Given the description of an element on the screen output the (x, y) to click on. 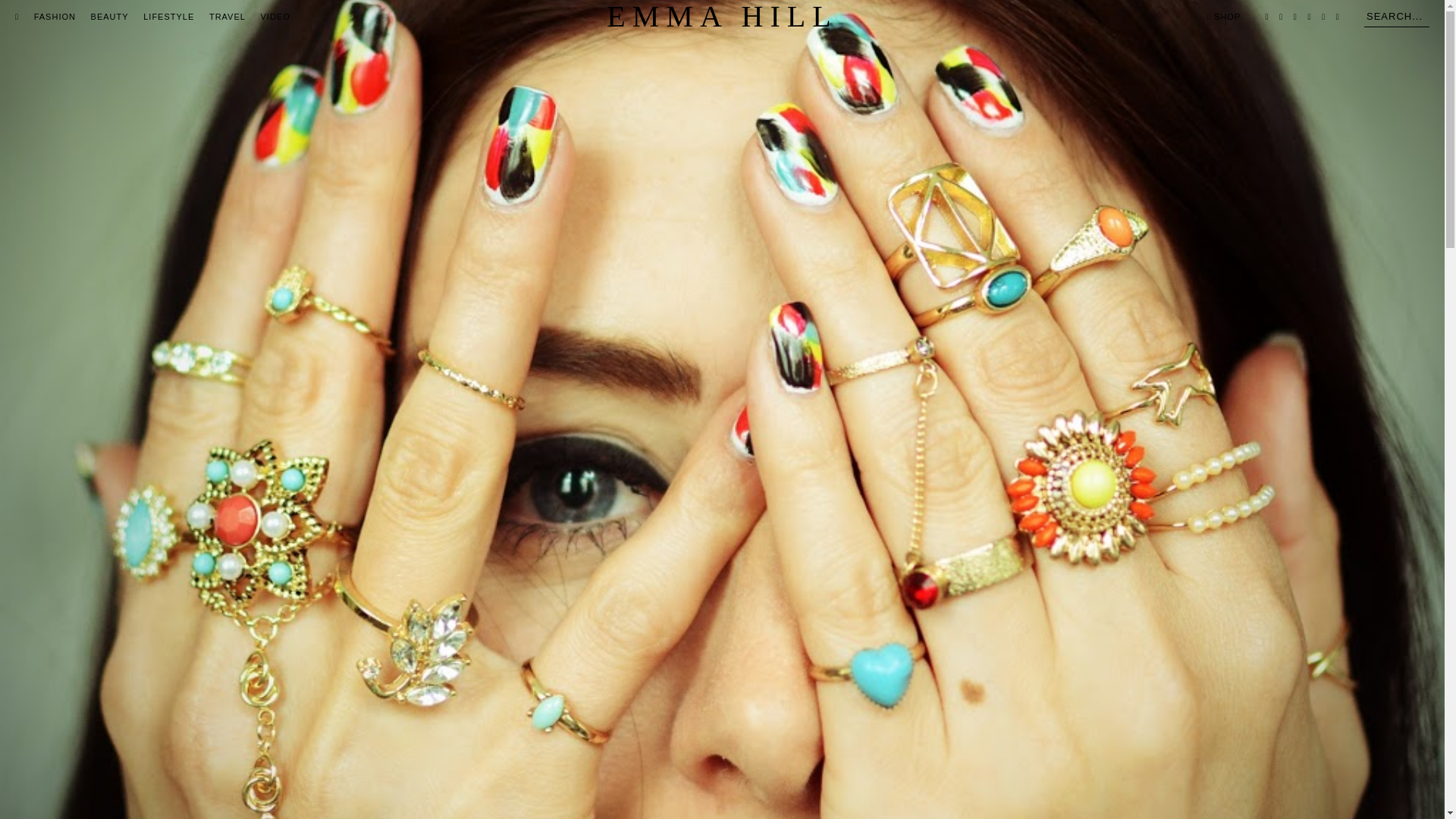
FASHION (54, 16)
 SHOP (1223, 16)
LIFESTYLE (167, 16)
BEAUTY (109, 16)
VIDEO (274, 16)
EMMA HILL (722, 16)
TRAVEL (227, 16)
